Given the description of an element on the screen output the (x, y) to click on. 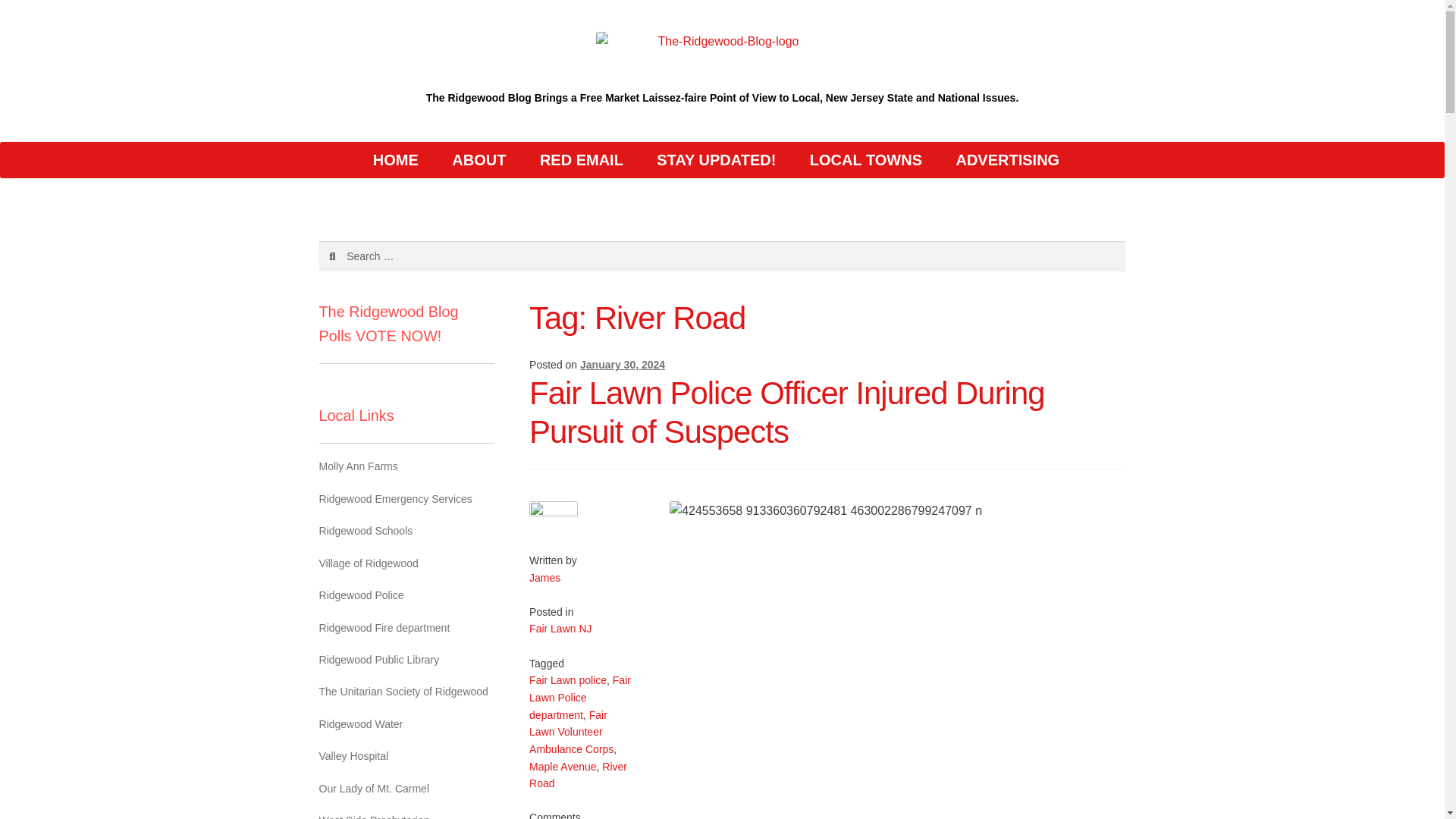
Fair Lawn Police Officer Injured During Pursuit of Suspects (786, 412)
RED EMAIL (581, 159)
HOME (395, 159)
STAY UPDATED! (716, 159)
Fair Lawn Volunteer Ambulance Corps (570, 732)
January 30, 2024 (622, 364)
Fair Lawn Police department (579, 697)
LOCAL NJ Towns News (865, 159)
Fair Lawn NJ (560, 628)
ADVERTISING (1007, 159)
LOCAL TOWNS (865, 159)
James (544, 577)
